Given the description of an element on the screen output the (x, y) to click on. 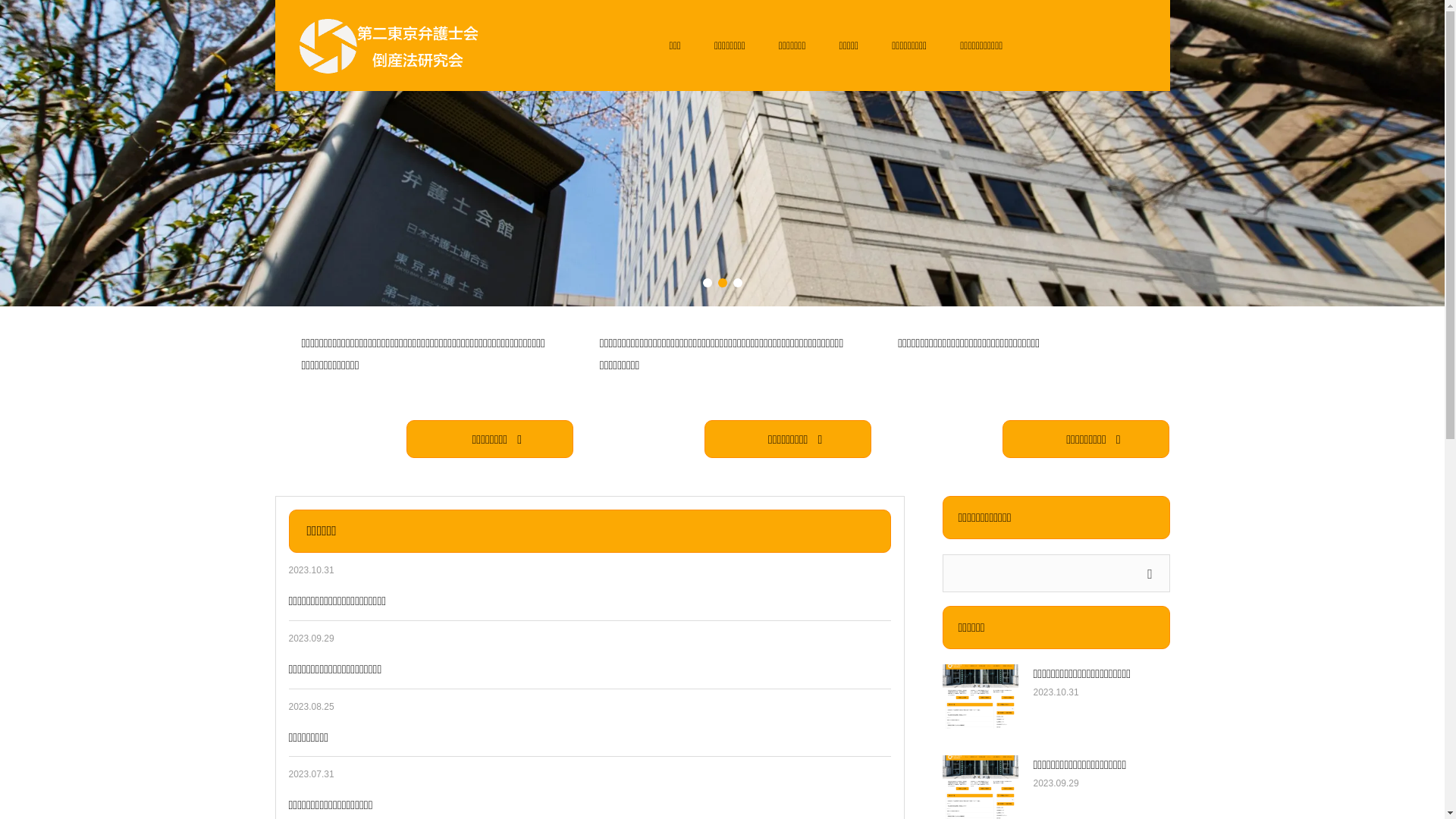
1 Element type: text (706, 282)
3 Element type: text (736, 282)
2 Element type: text (721, 282)
